Given the description of an element on the screen output the (x, y) to click on. 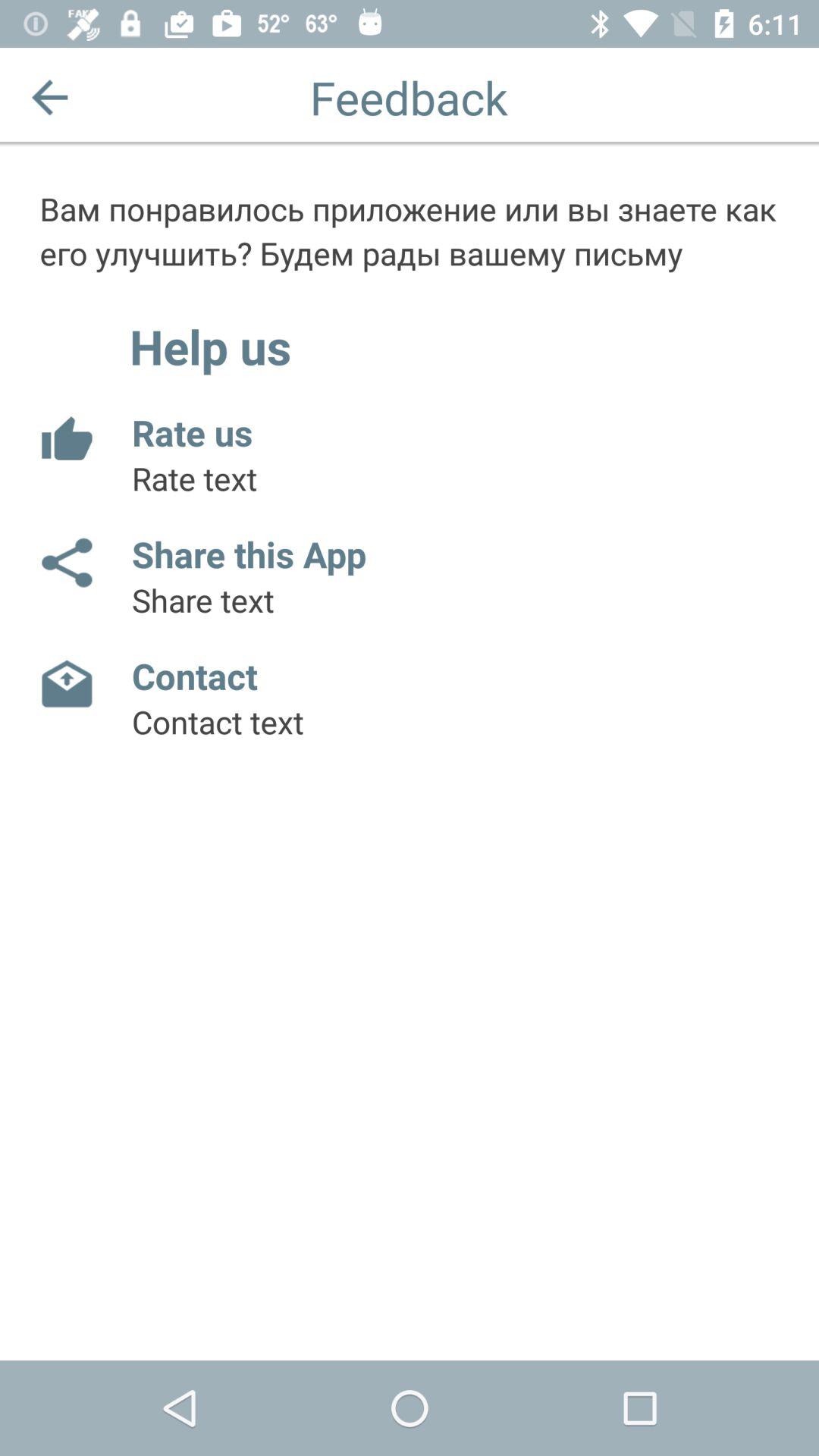
contact app owner (65, 684)
